Given the description of an element on the screen output the (x, y) to click on. 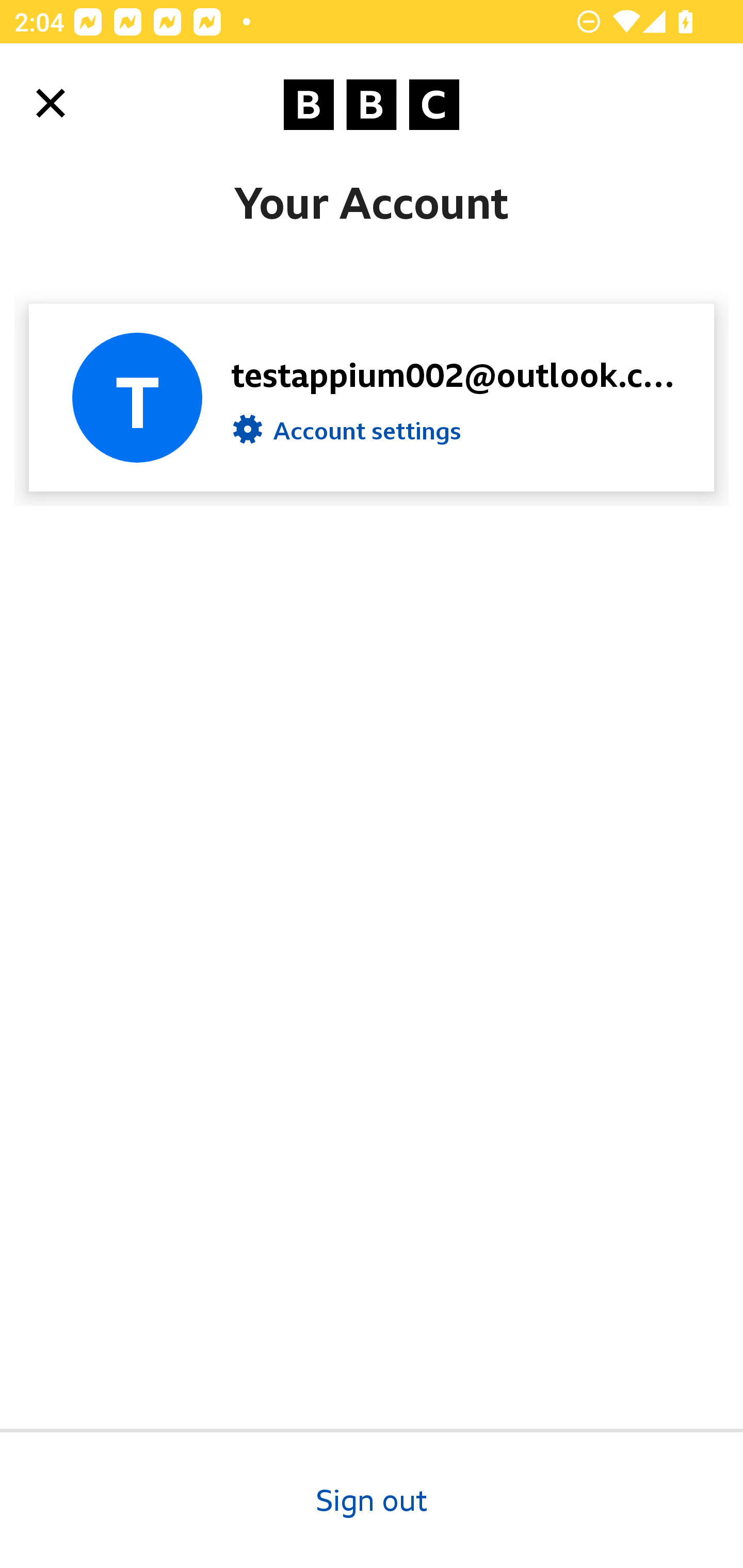
Close (50, 103)
testappium002@outlook.com Account settings (371, 397)
Account settings (346, 433)
Sign out (371, 1498)
